Given the description of an element on the screen output the (x, y) to click on. 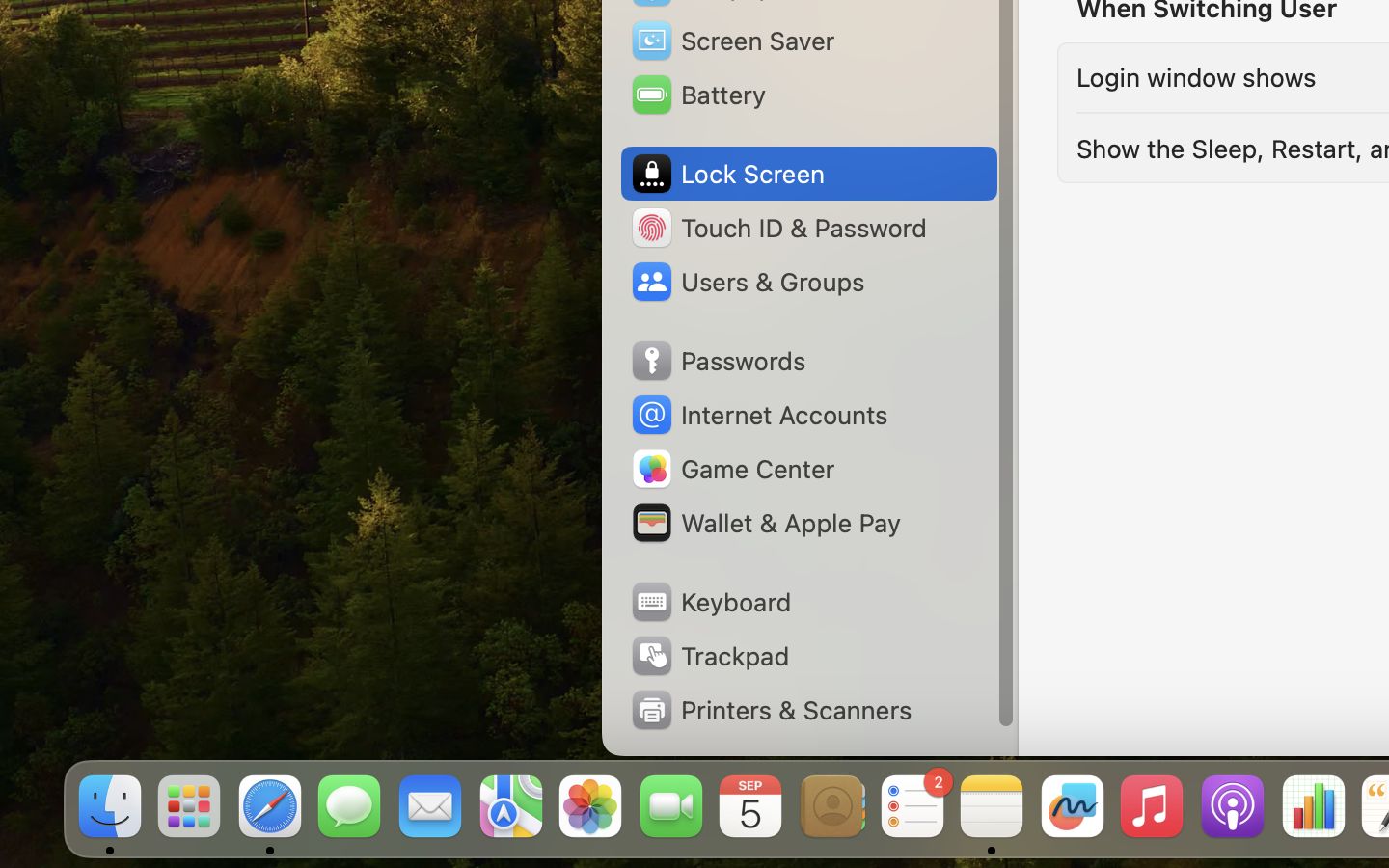
Internet Accounts Element type: AXStaticText (757, 414)
Users & Groups Element type: AXStaticText (746, 281)
Screen Saver Element type: AXStaticText (731, 40)
Printers & Scanners Element type: AXStaticText (770, 709)
Lock Screen Element type: AXStaticText (726, 173)
